Given the description of an element on the screen output the (x, y) to click on. 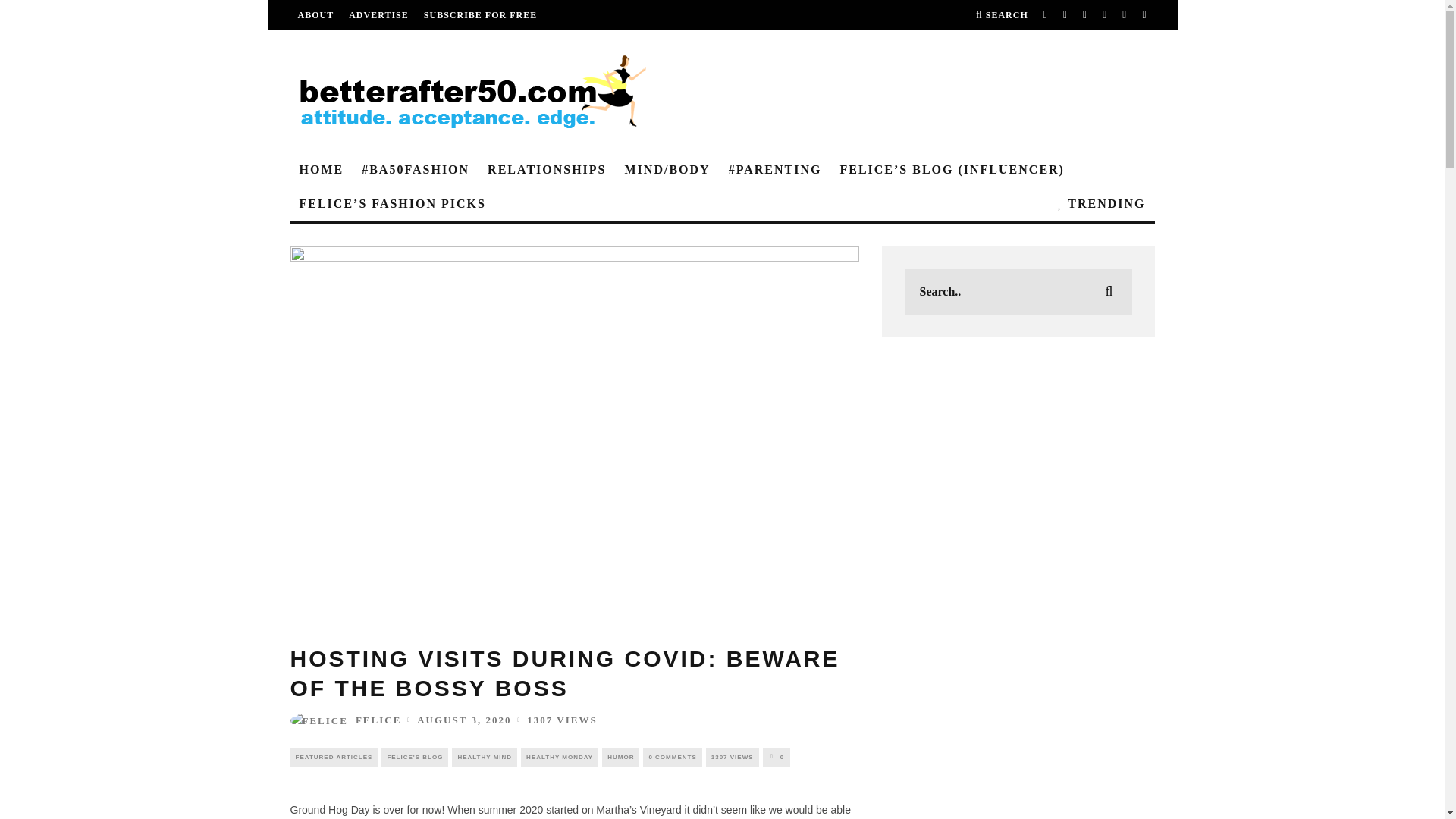
View all posts in Healthy Monday (559, 757)
View all posts in Humor (620, 757)
SEARCH (1001, 15)
HOME (320, 170)
ADVERTISE (379, 15)
Search (1001, 15)
View all posts in Featured Articles (333, 757)
ABOUT (315, 15)
View all posts in Healthy Mind (483, 757)
SUBSCRIBE FOR FREE (480, 15)
